Given the description of an element on the screen output the (x, y) to click on. 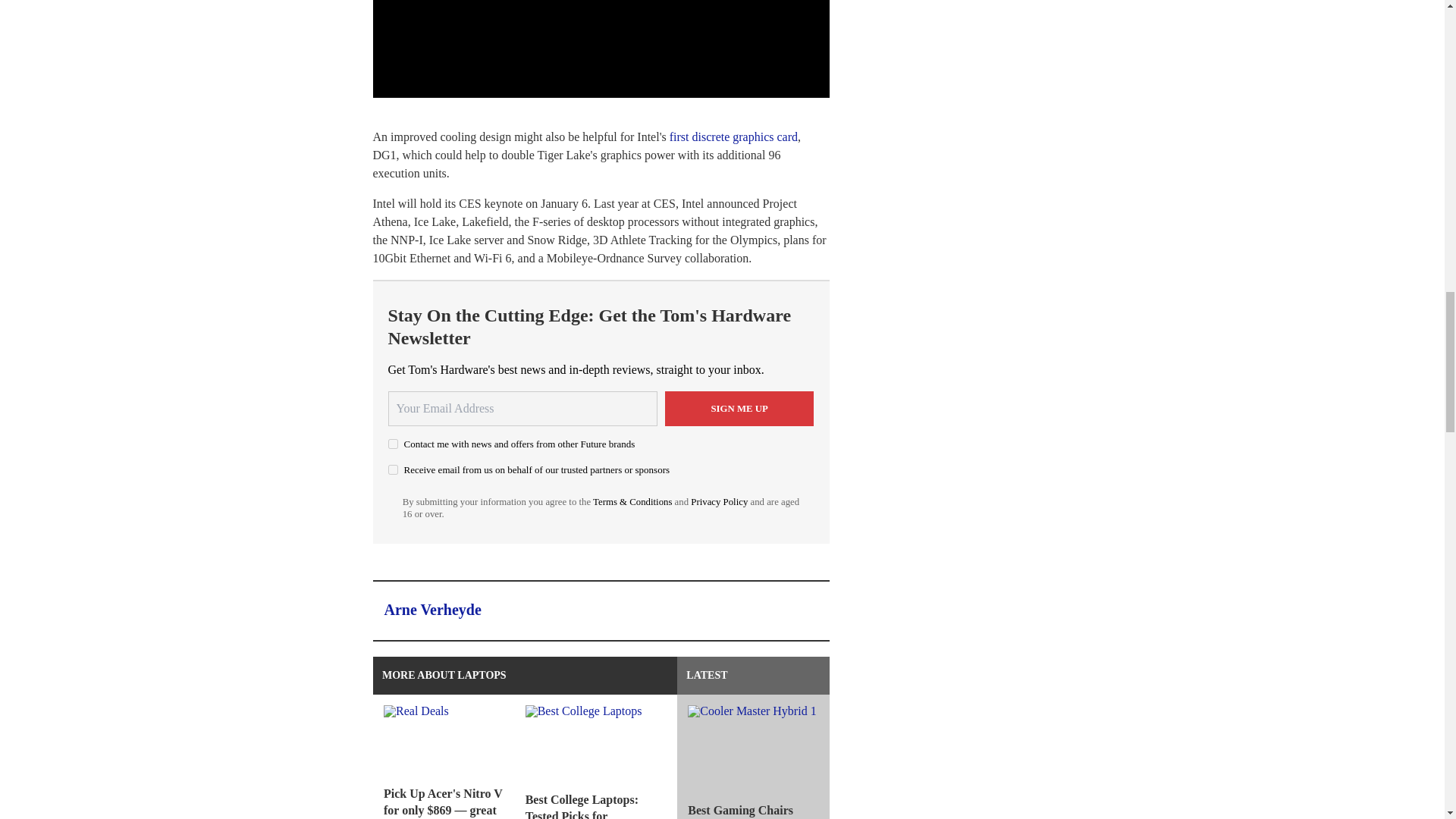
on (392, 470)
on (392, 443)
Sign me up (739, 408)
